Given the description of an element on the screen output the (x, y) to click on. 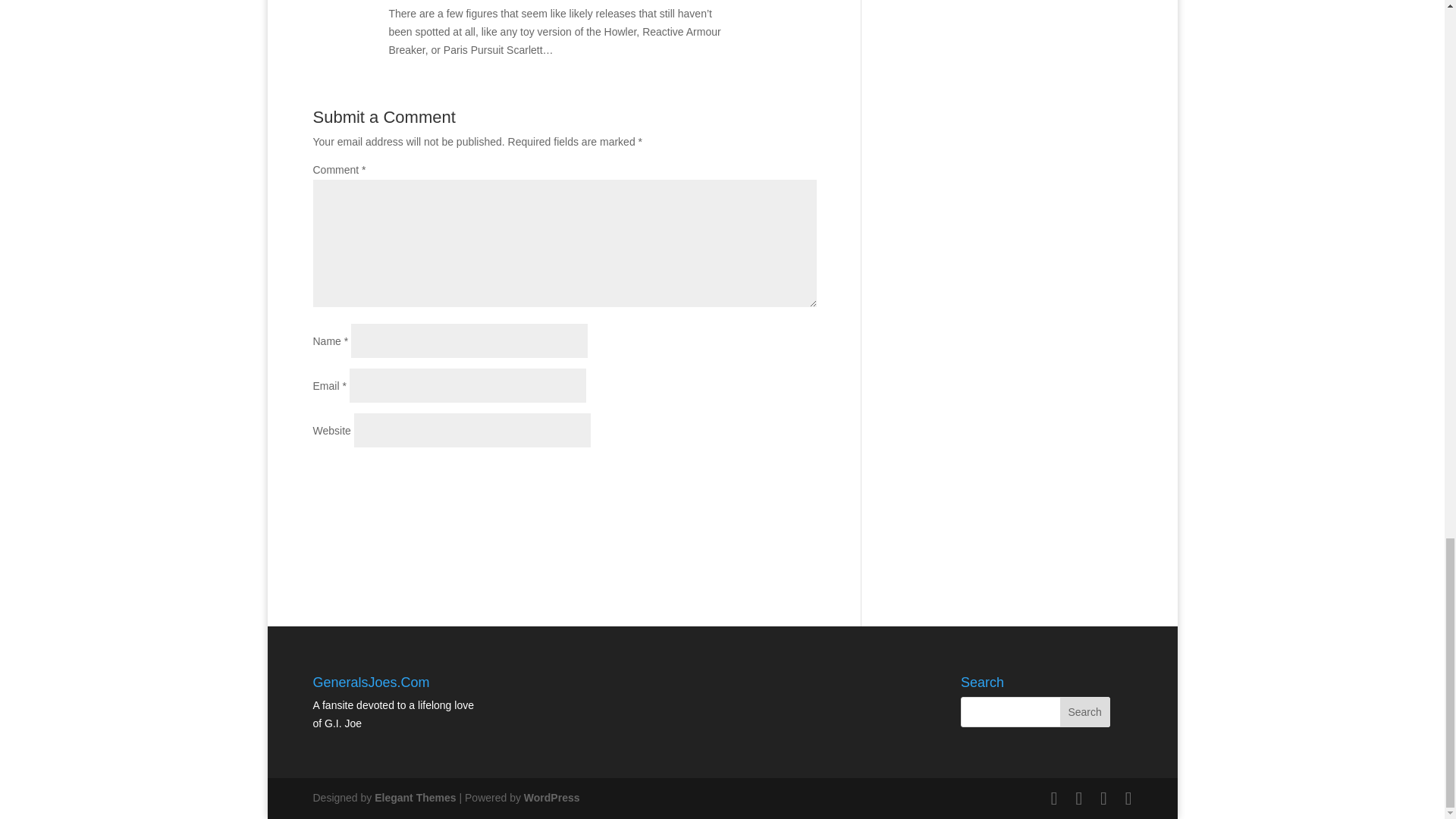
Submit Comment (740, 476)
Search (1084, 711)
Premium WordPress Themes (414, 797)
